Given the description of an element on the screen output the (x, y) to click on. 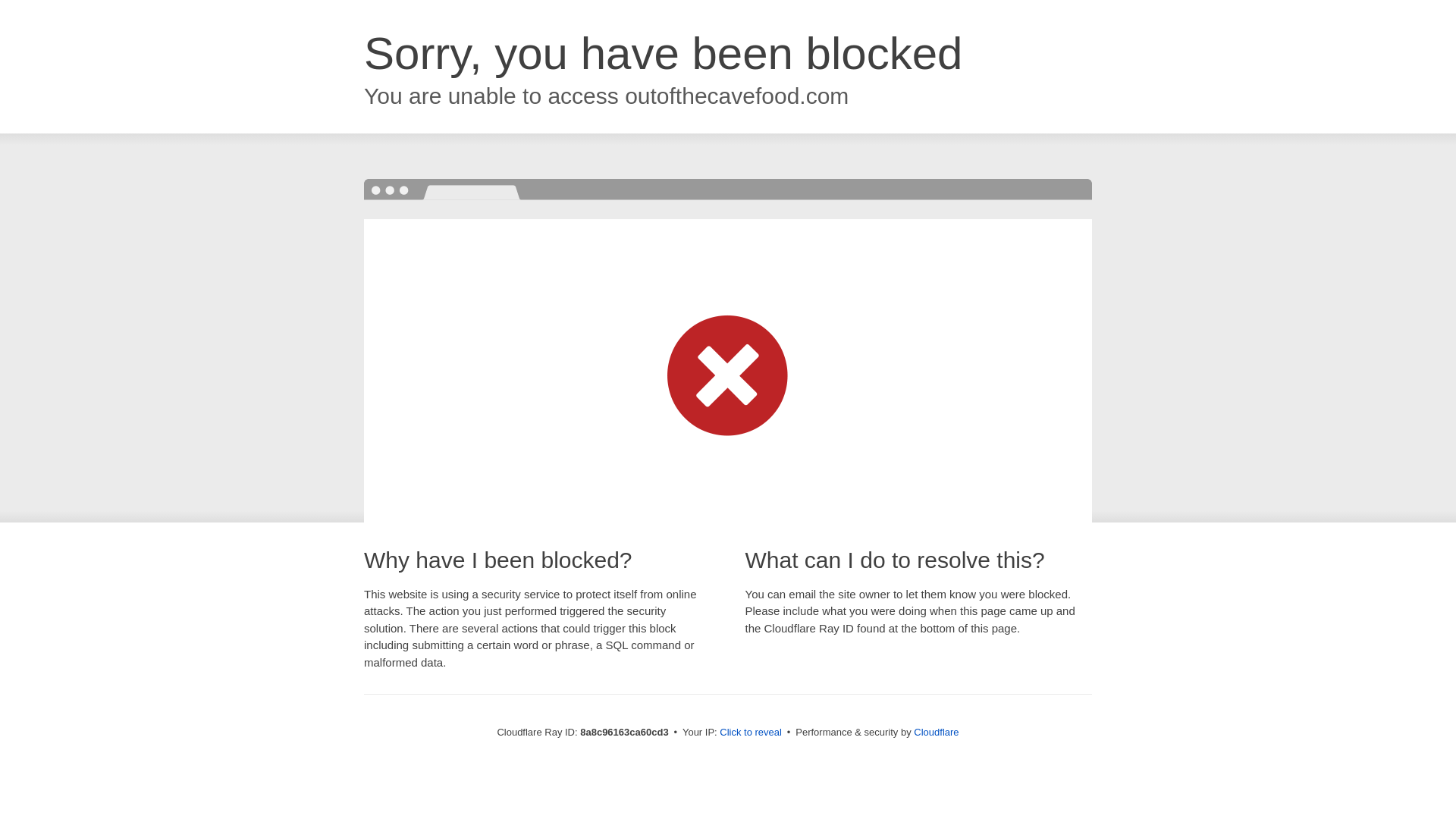
Click to reveal (750, 732)
Cloudflare (936, 731)
